Given the description of an element on the screen output the (x, y) to click on. 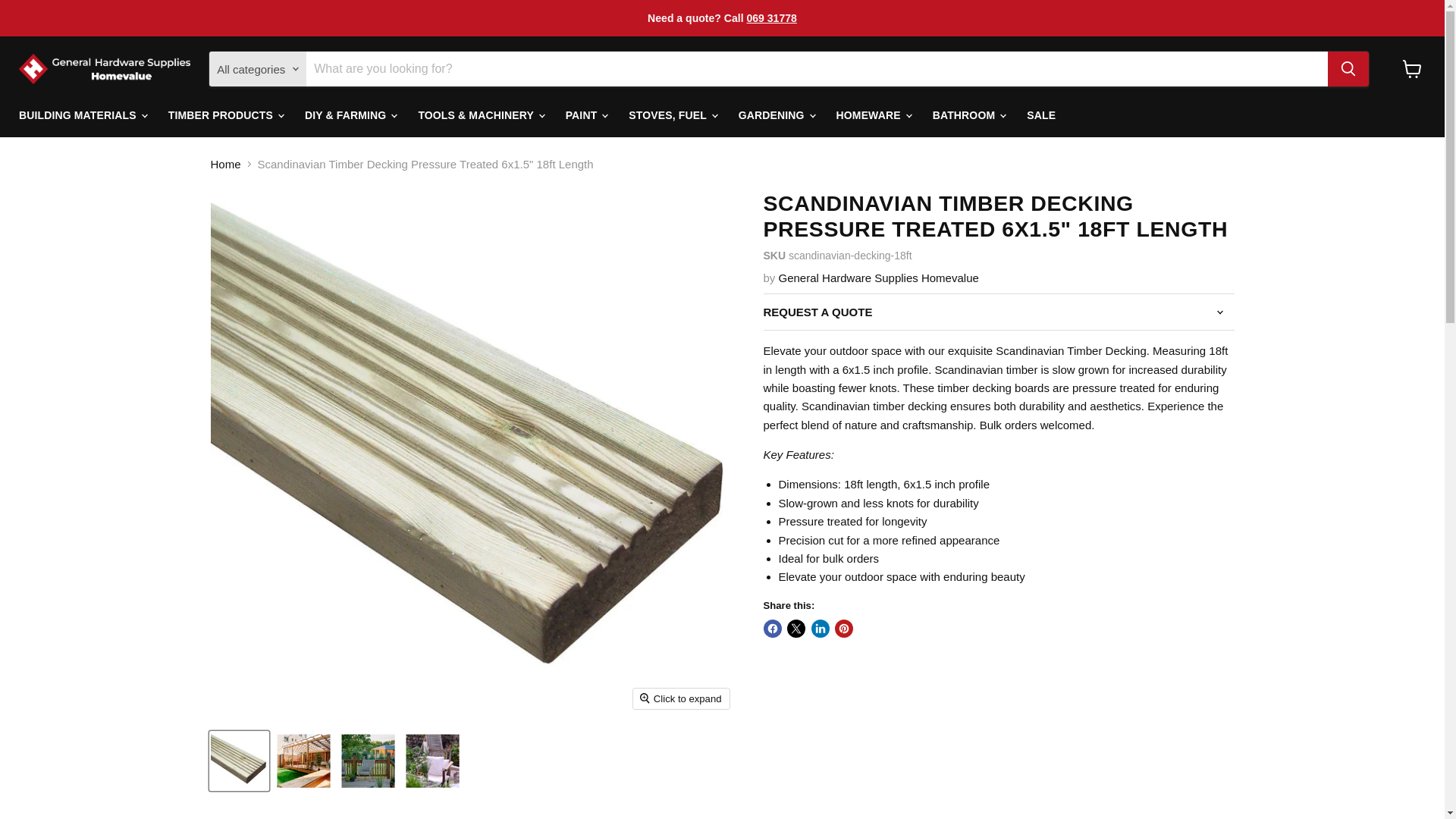
View cart (1411, 68)
069 31778 (770, 18)
General Hardware Supplies Homevalue (878, 277)
